Given the description of an element on the screen output the (x, y) to click on. 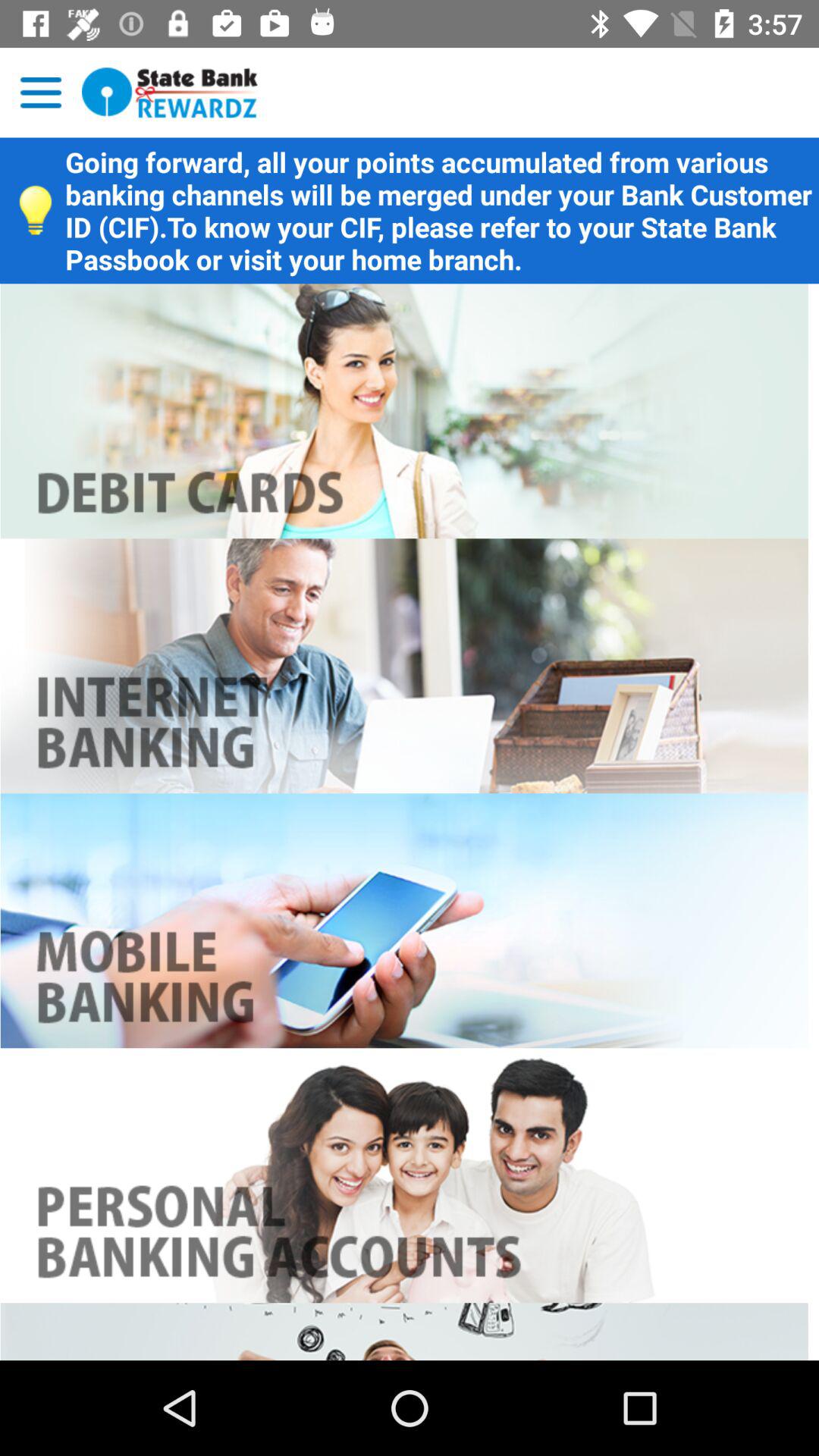
setting button (40, 92)
